Given the description of an element on the screen output the (x, y) to click on. 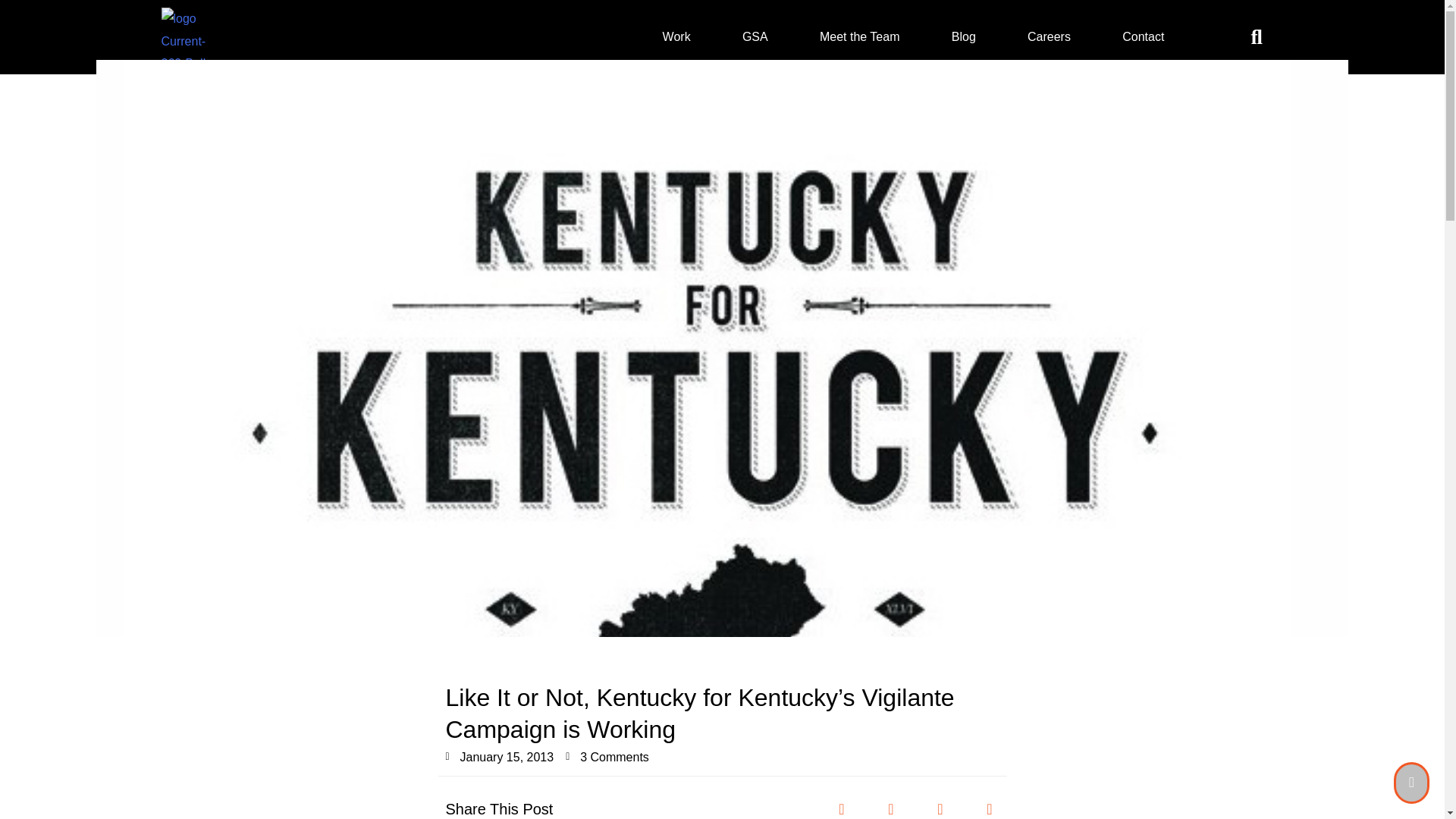
GSA (754, 36)
3 Comments (607, 757)
Work (676, 36)
Meet the Team (859, 36)
January 15, 2013 (499, 757)
Blog (963, 36)
Careers (1048, 36)
Contact (1142, 36)
